Given the description of an element on the screen output the (x, y) to click on. 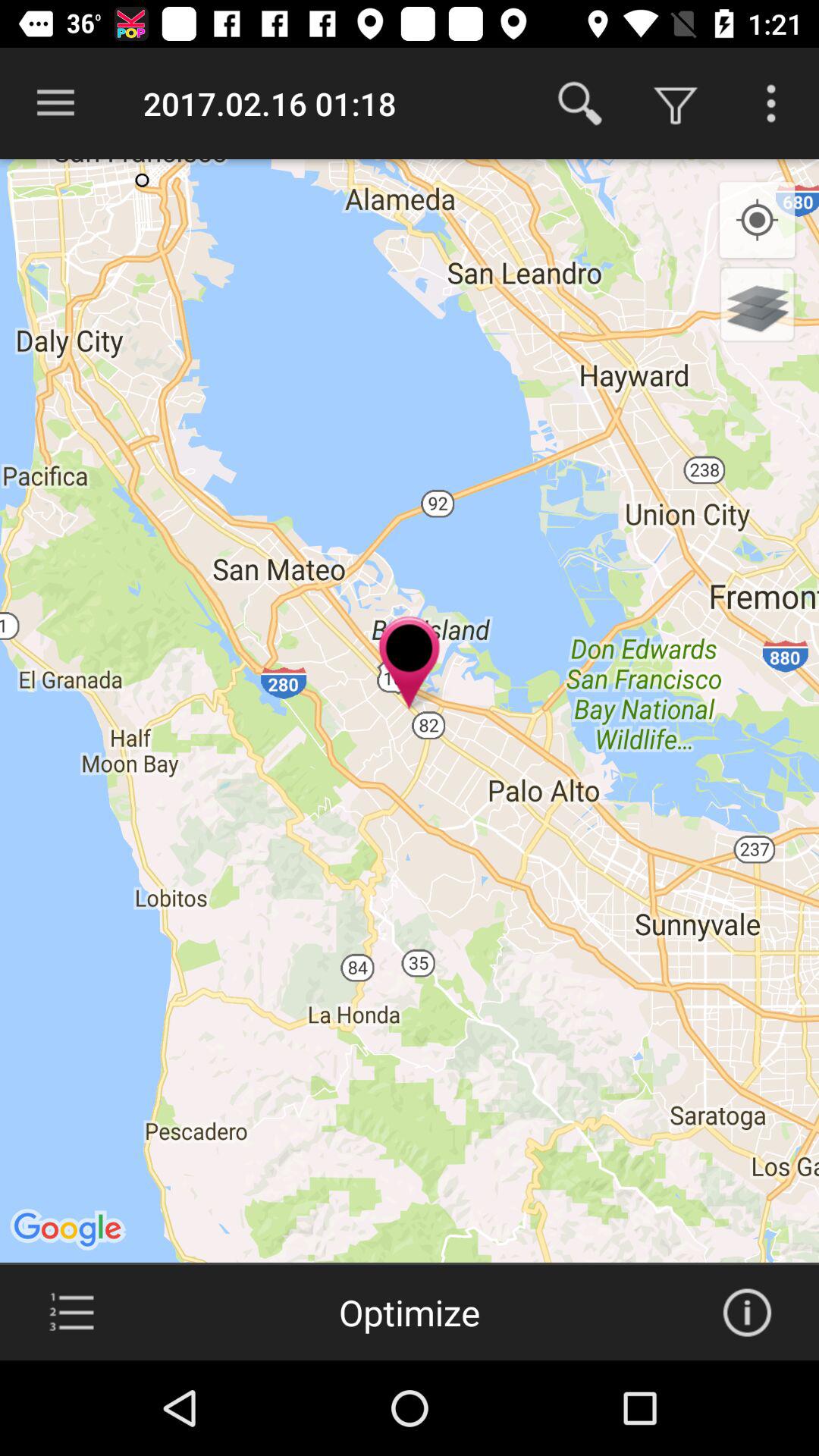
view categories (71, 1312)
